Given the description of an element on the screen output the (x, y) to click on. 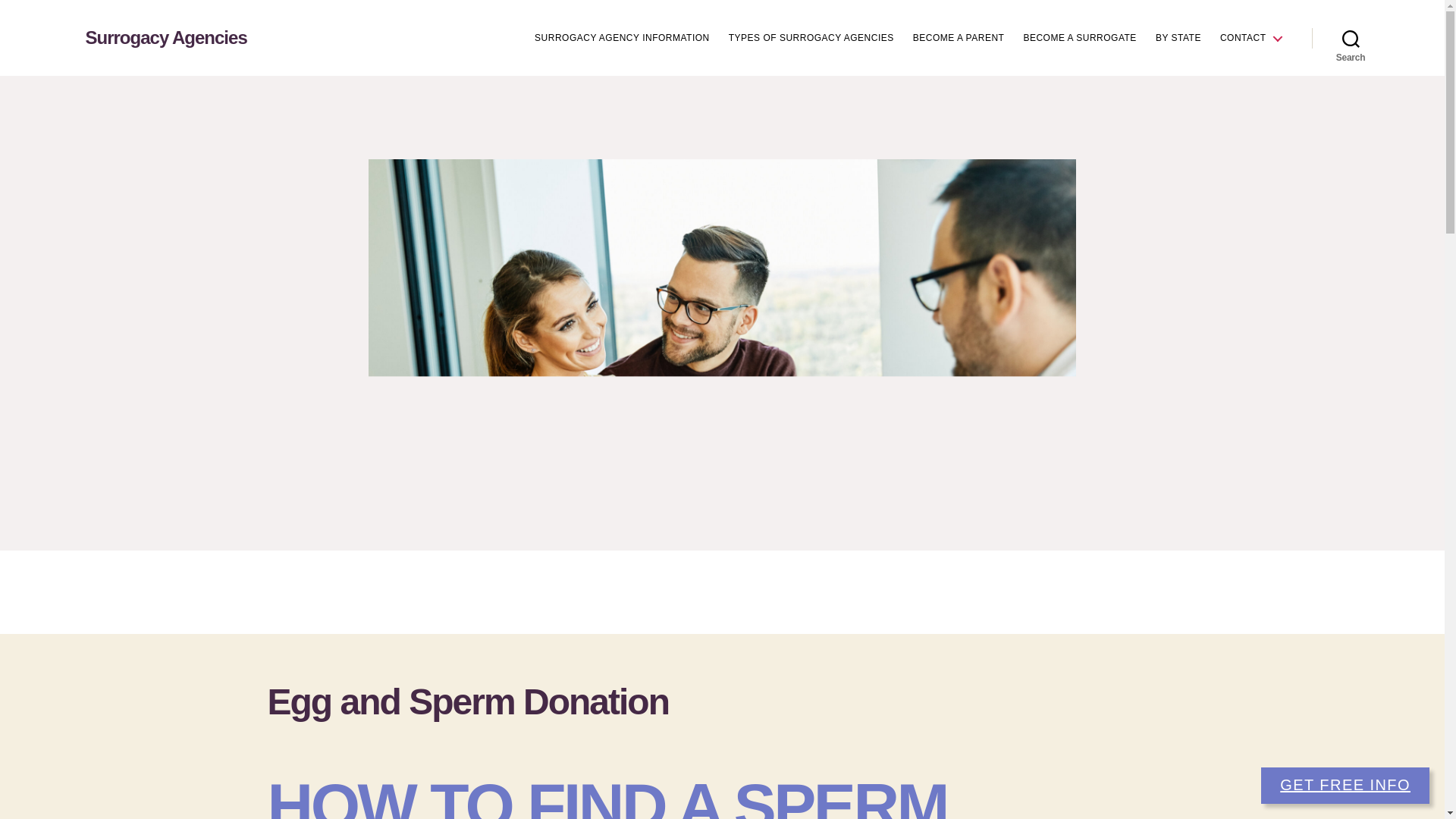
TYPES OF SURROGACY AGENCIES (811, 37)
GET FREE INFO (1344, 785)
CONTACT (1250, 37)
Search (1350, 37)
Surrogacy Agencies (165, 37)
BY STATE (1178, 37)
BECOME A PARENT (958, 37)
BECOME A SURROGATE (1079, 37)
SURROGACY AGENCY INFORMATION (622, 37)
